Given the description of an element on the screen output the (x, y) to click on. 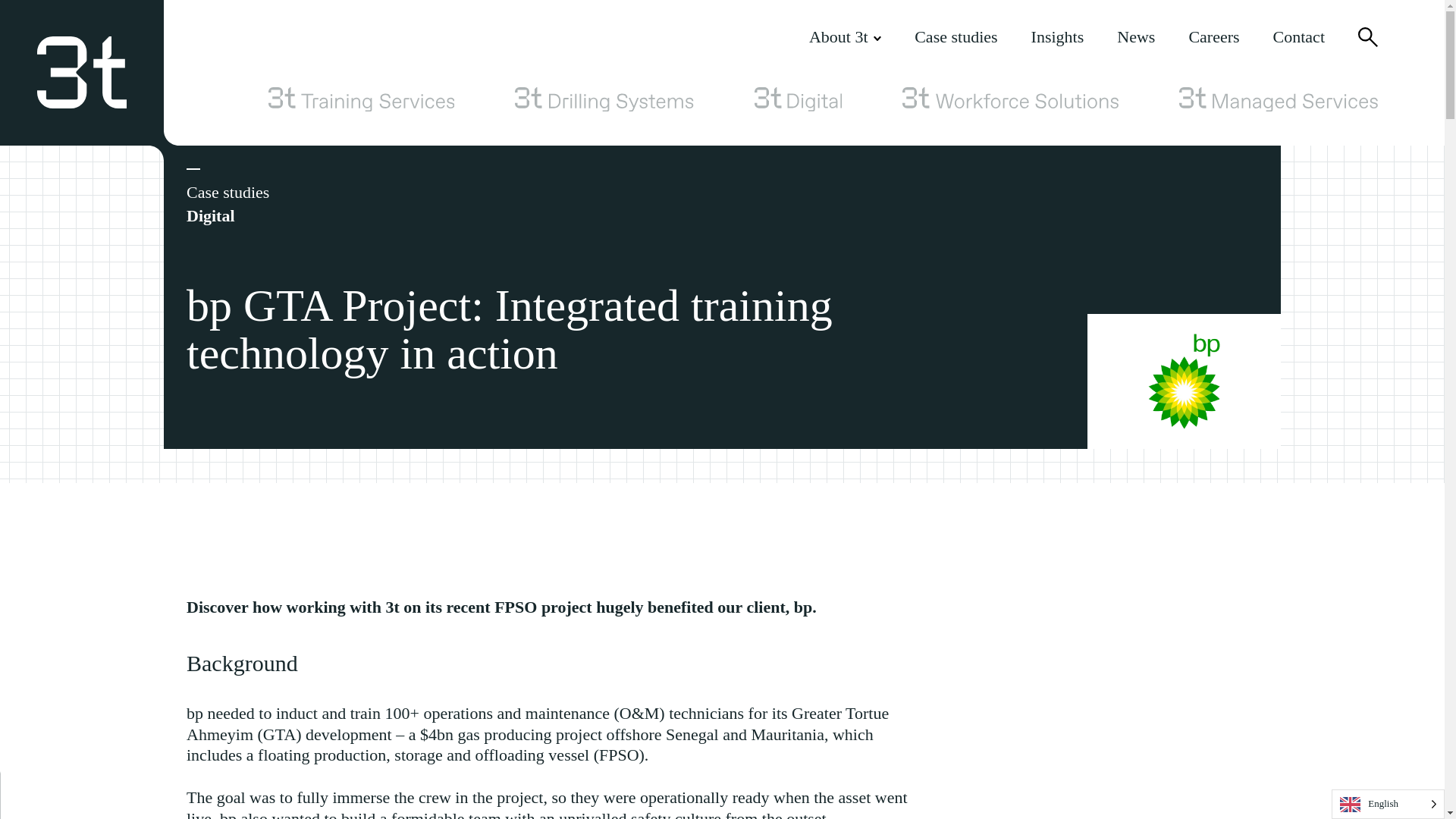
About 3t (844, 36)
Contact (1298, 36)
Insights (1057, 36)
Careers (1213, 36)
Case studies (955, 36)
News (1135, 36)
Search (1367, 36)
